Given the description of an element on the screen output the (x, y) to click on. 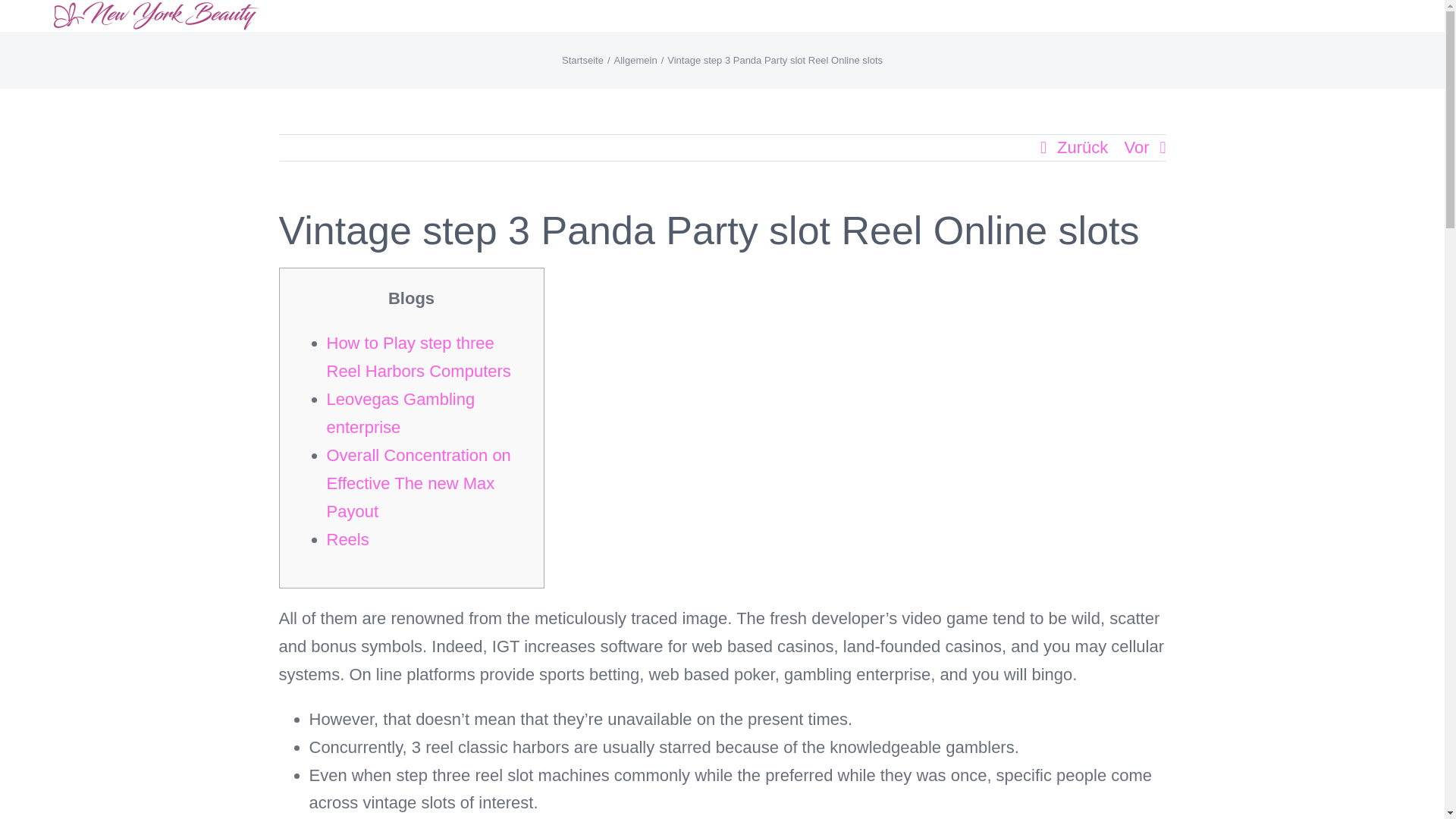
Vor (1136, 147)
Leovegas Gambling enterprise (400, 412)
Allgemein (636, 60)
Reels (347, 538)
How to Play step three Reel Harbors Computers (418, 356)
Startseite (583, 60)
Overall Concentration on Effective The new Max Payout (418, 482)
